Given the description of an element on the screen output the (x, y) to click on. 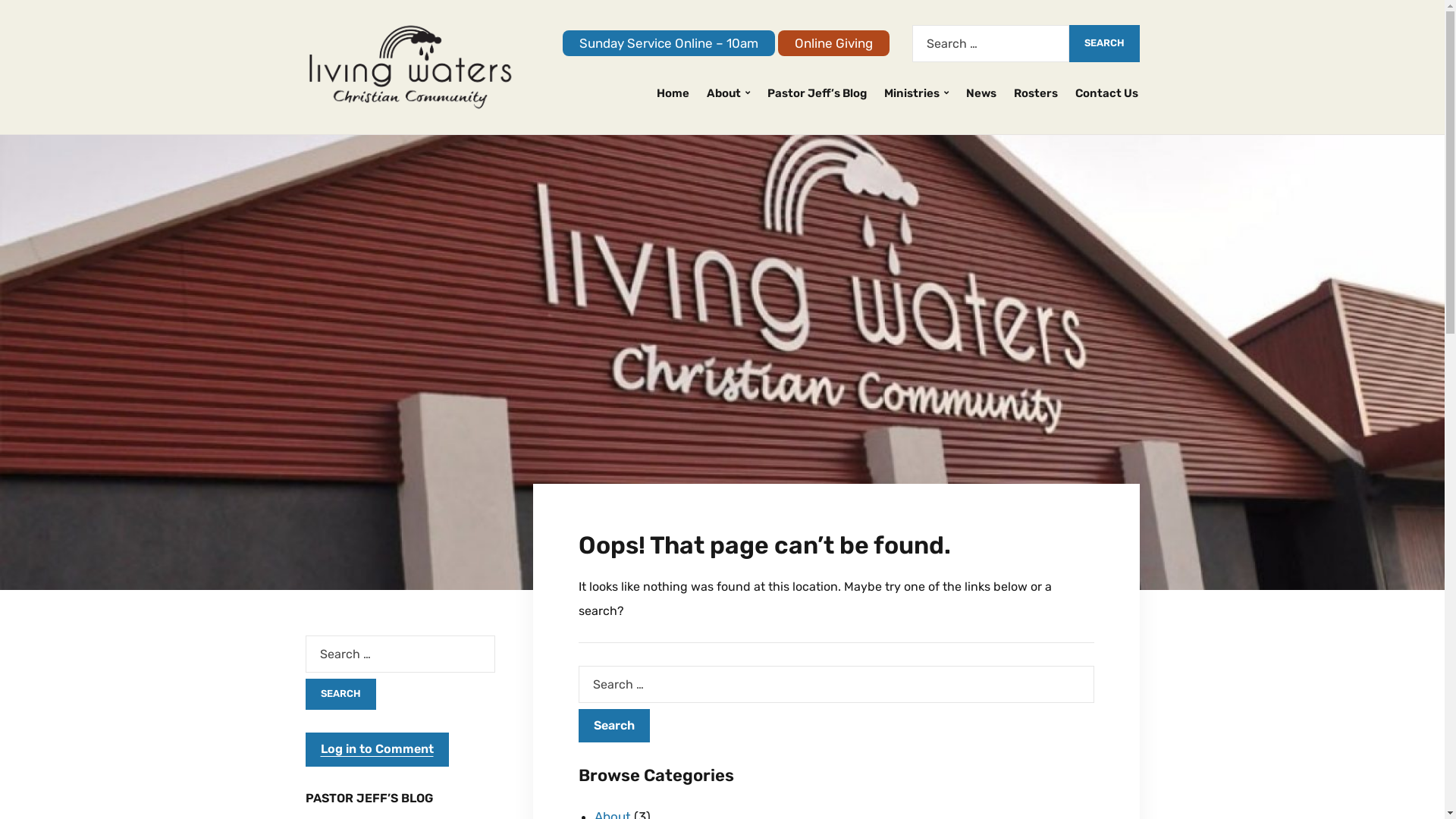
Ministries Element type: text (916, 93)
Search Element type: text (339, 693)
News Element type: text (980, 93)
Search Element type: text (613, 726)
About Element type: text (728, 93)
Search Element type: text (1104, 43)
Online Giving Element type: text (833, 43)
Rosters Element type: text (1034, 93)
Log in to Comment Element type: text (376, 749)
Home Element type: text (672, 93)
Contact Us Element type: text (1106, 93)
